Given the description of an element on the screen output the (x, y) to click on. 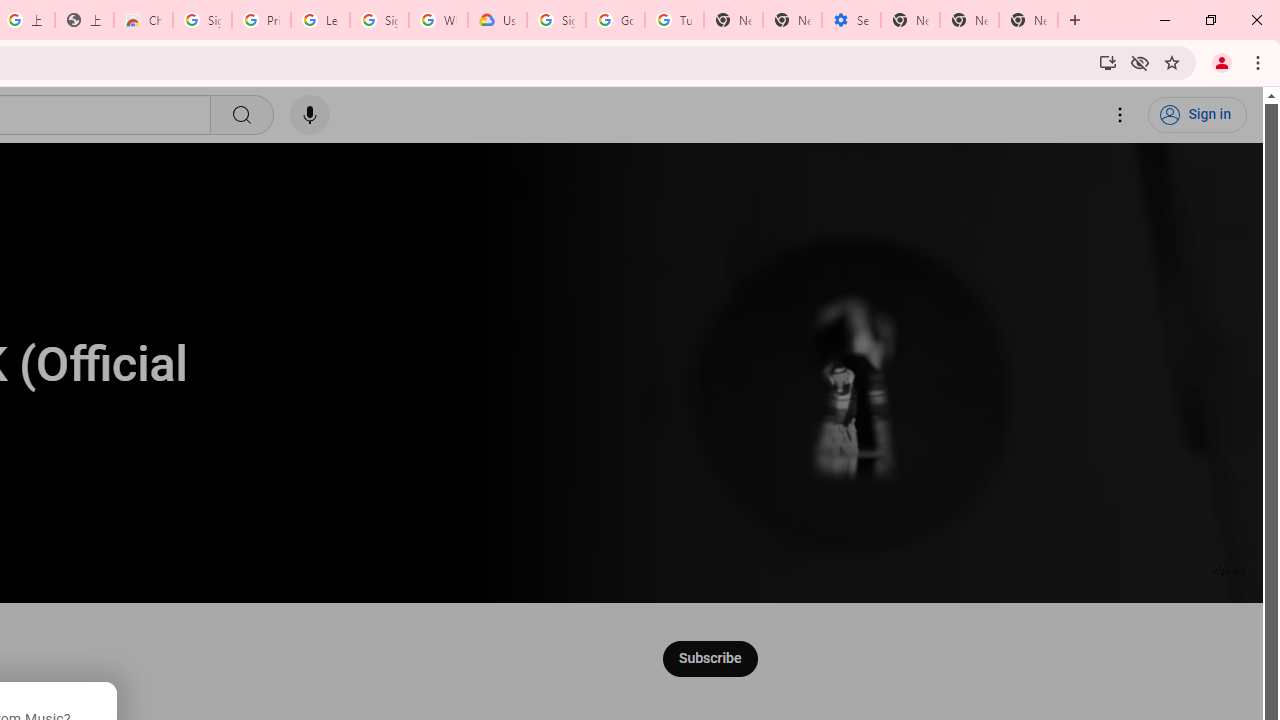
New Tab (909, 20)
Install YouTube (1107, 62)
Turn cookies on or off - Computer - Google Account Help (674, 20)
Channel watermark (1230, 570)
Who are Google's partners? - Privacy and conditions - Google (438, 20)
Search with your voice (309, 115)
Settings - Addresses and more (850, 20)
Google Account Help (615, 20)
Channel watermark (1230, 570)
